Given the description of an element on the screen output the (x, y) to click on. 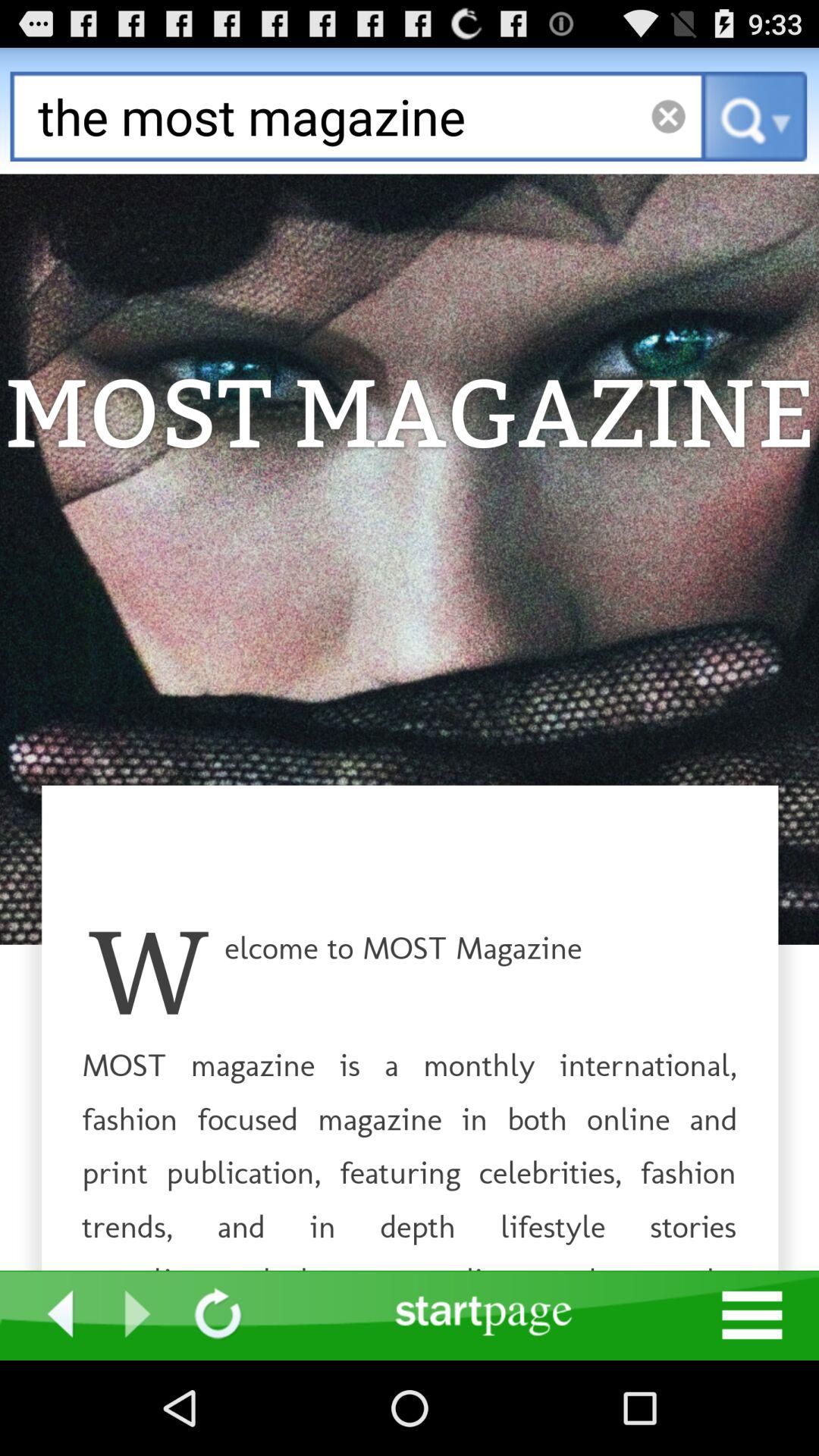
delete text (668, 116)
